Given the description of an element on the screen output the (x, y) to click on. 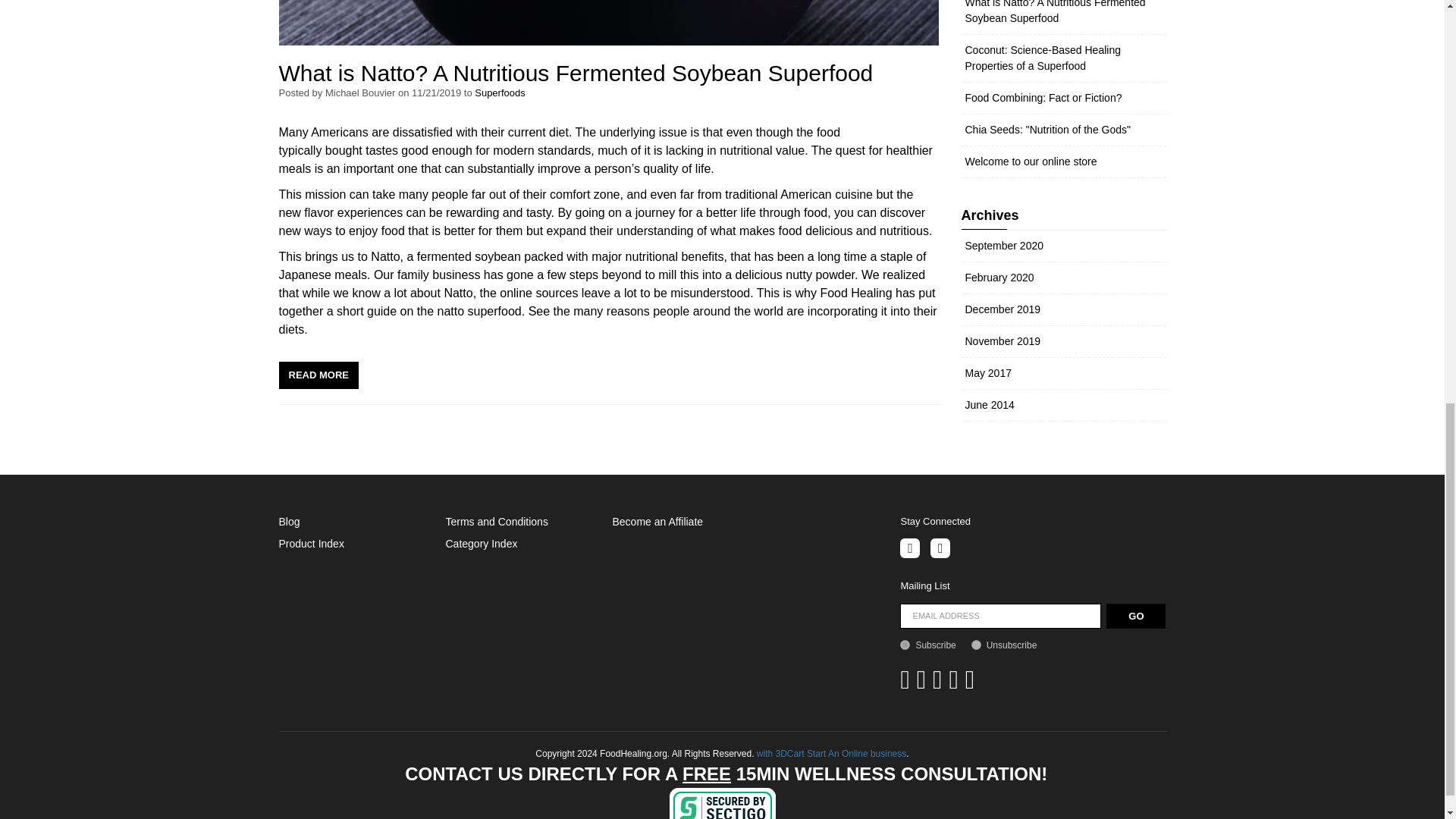
0 (976, 644)
1 (904, 644)
Like Us on Facebook (909, 547)
Follow Us on Instagram (940, 547)
What is Natto? A Nutritious Fermented Soybean Superfood (318, 375)
What is Natto? A Nutritious Fermented Soybean Superfood (576, 72)
